Given the description of an element on the screen output the (x, y) to click on. 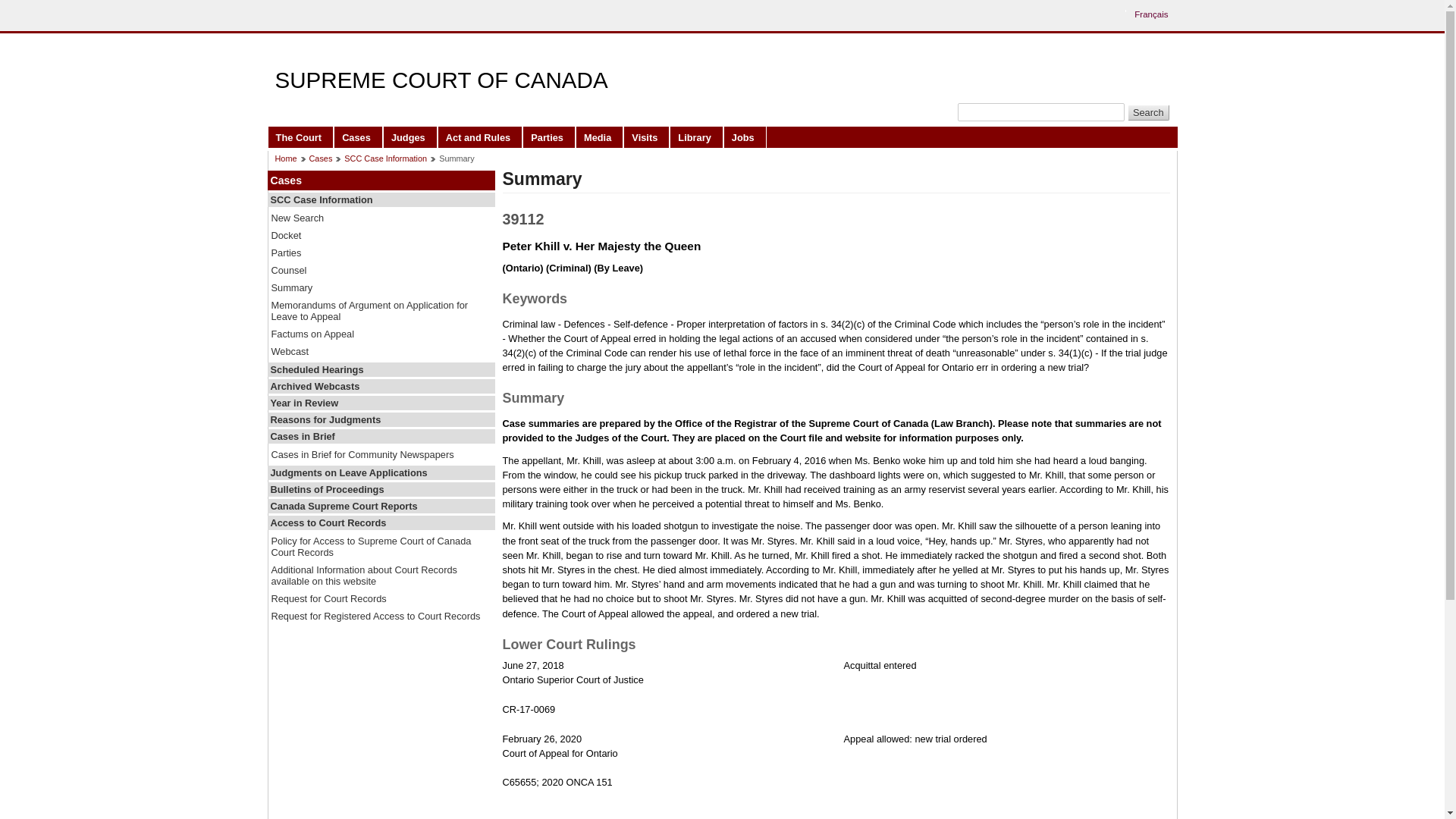
Cases (357, 136)
Search (1147, 112)
The Court (300, 136)
Judges (410, 136)
Skip to main content (726, 11)
Search (1147, 112)
SUPREME COURT OF CANADA (441, 80)
